Given the description of an element on the screen output the (x, y) to click on. 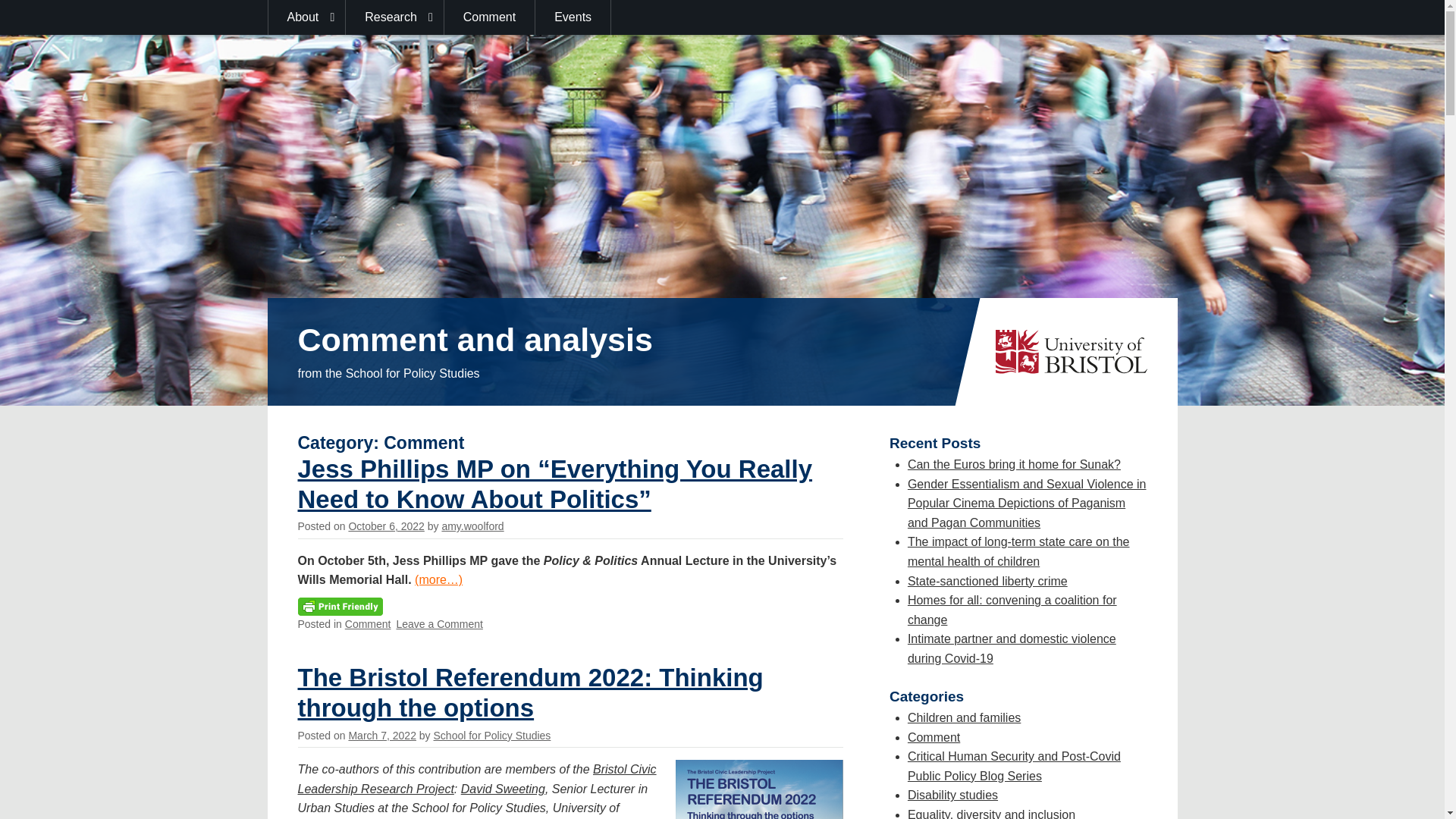
Thom Oliver (600, 475)
About (306, 17)
David Sweeting (502, 417)
Comment (368, 252)
Comment (368, 623)
October 6, 2022 (385, 154)
November 11, 2021 (394, 735)
School for Policy Studies (492, 363)
Comment (489, 17)
